Given the description of an element on the screen output the (x, y) to click on. 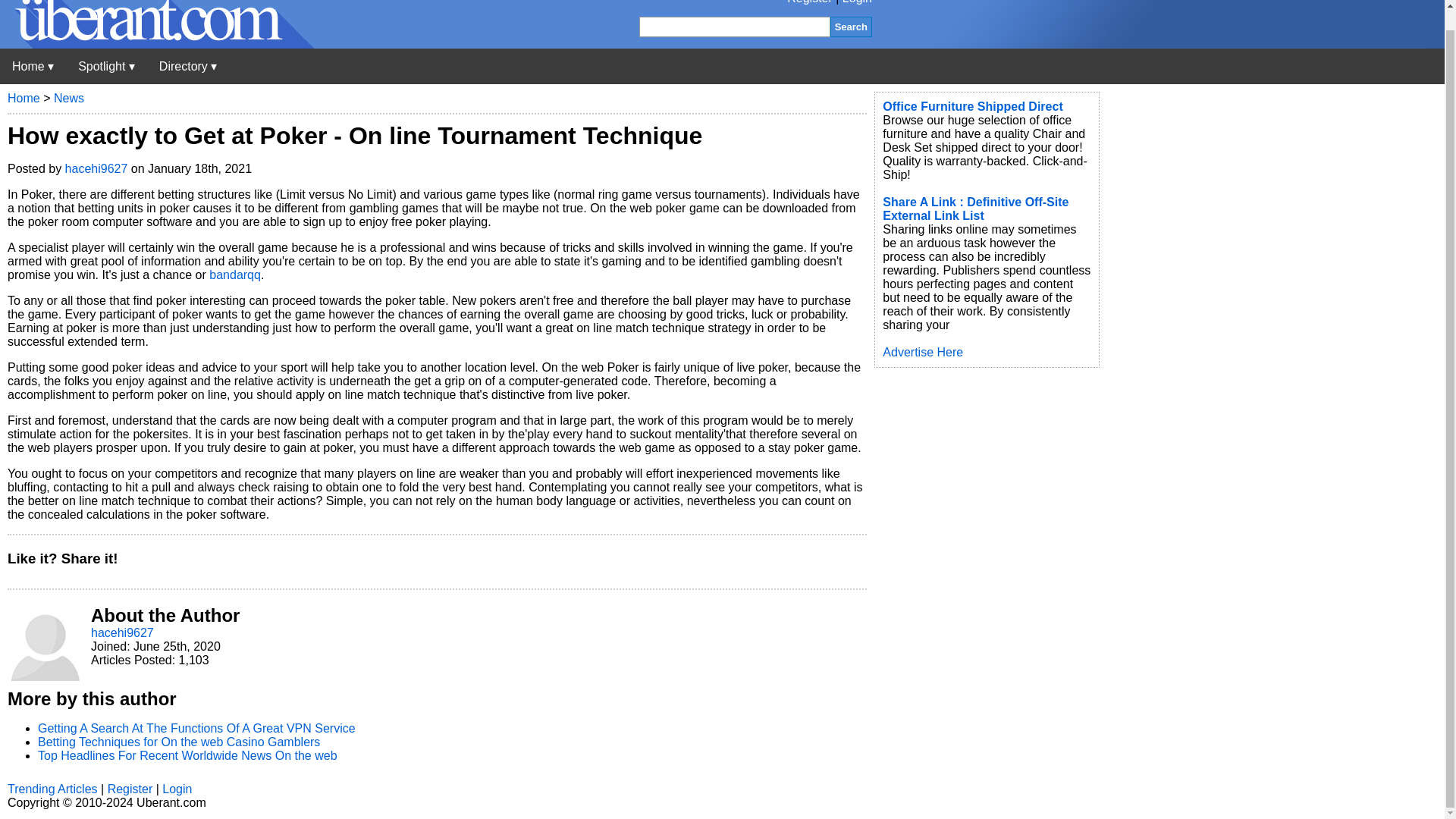
Uberant (157, 43)
Uberant (32, 65)
Search (850, 26)
Search (850, 26)
Register (809, 2)
Login (857, 2)
